Given the description of an element on the screen output the (x, y) to click on. 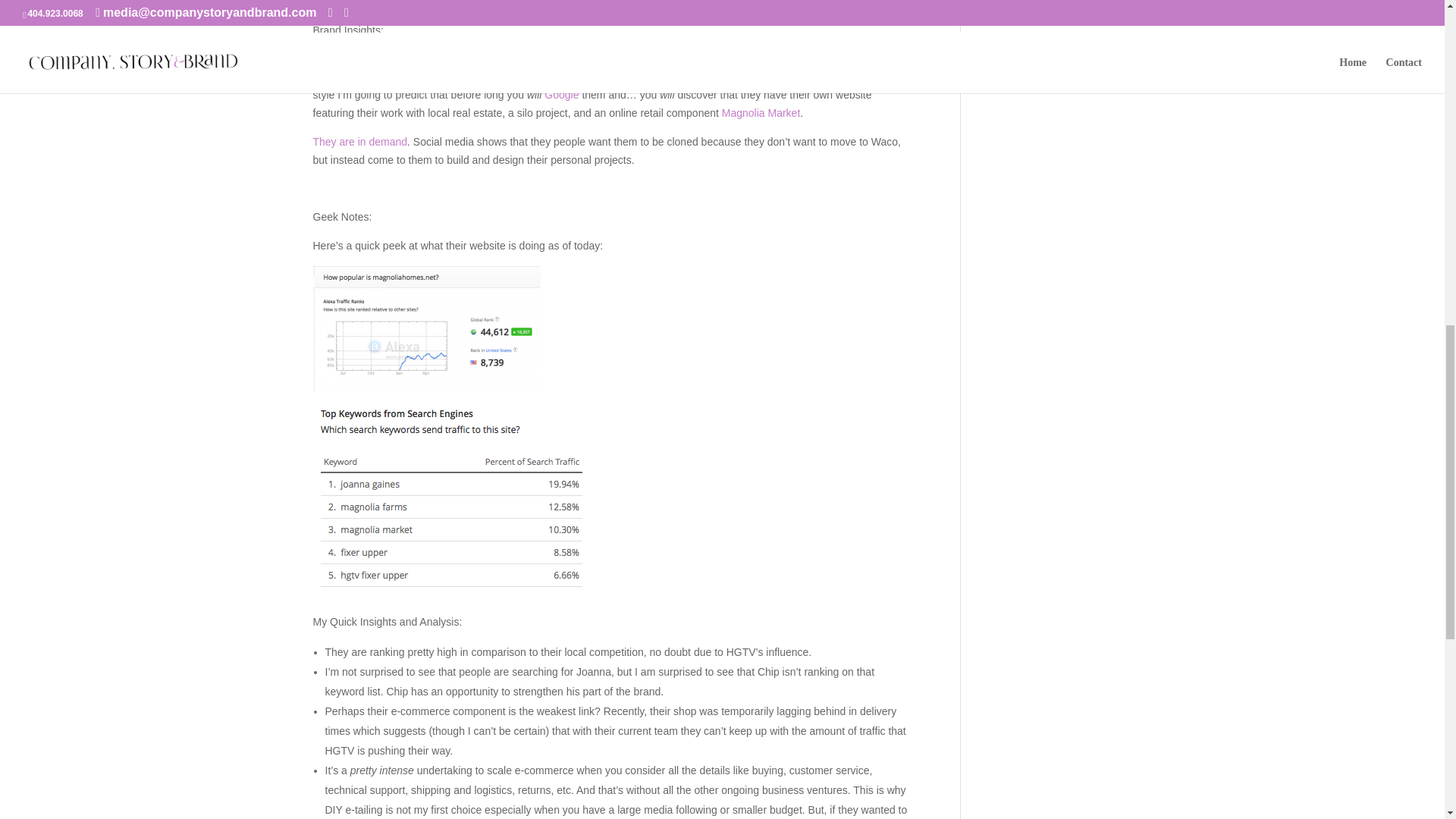
They are in demand (360, 141)
Google (561, 94)
Magnolia Market (761, 112)
